Given the description of an element on the screen output the (x, y) to click on. 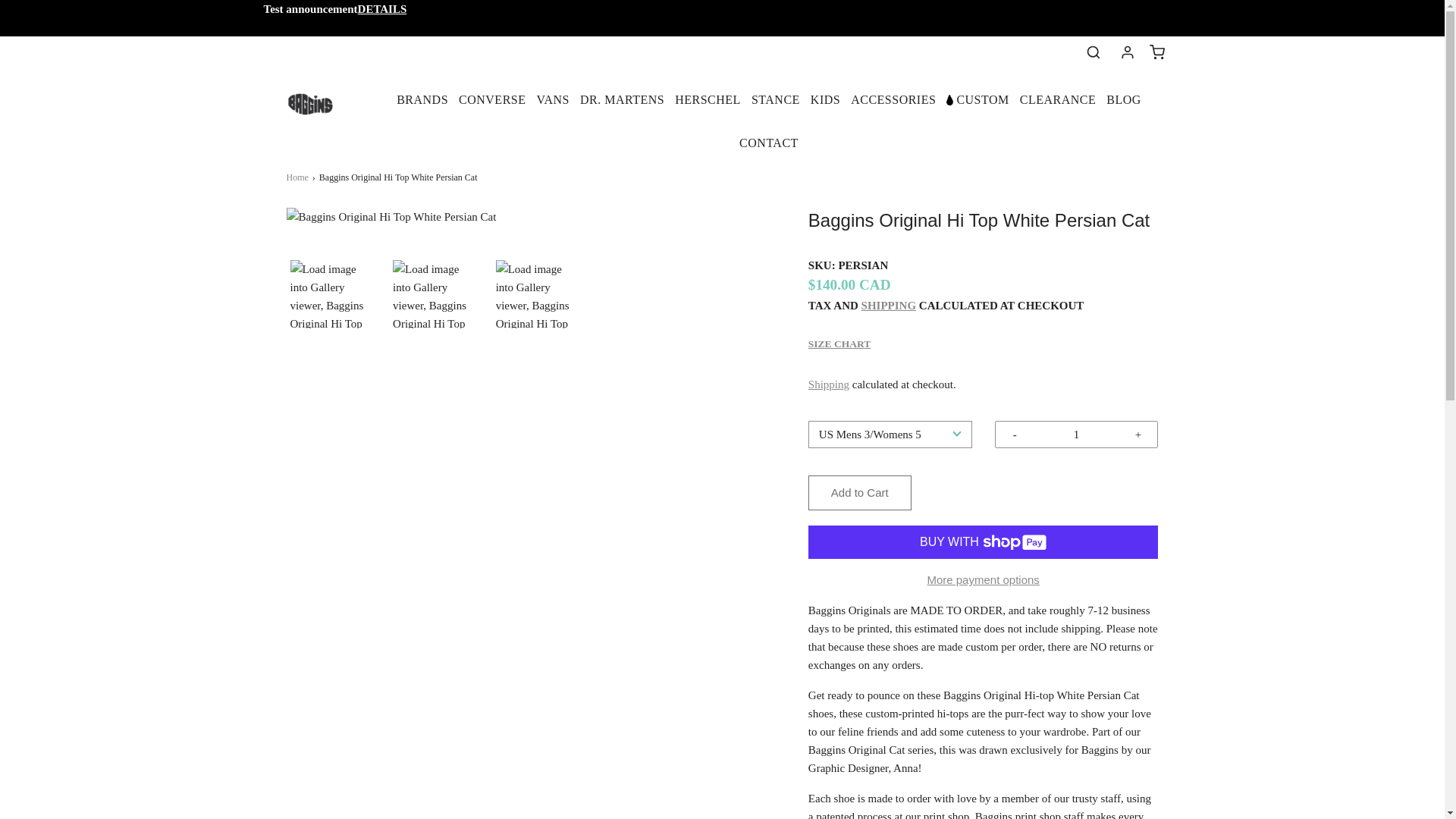
1 (1076, 434)
Search (1093, 52)
Cart (1157, 52)
Log in (1126, 52)
Back to the frontpage (299, 177)
DETAILS (382, 9)
